Given the description of an element on the screen output the (x, y) to click on. 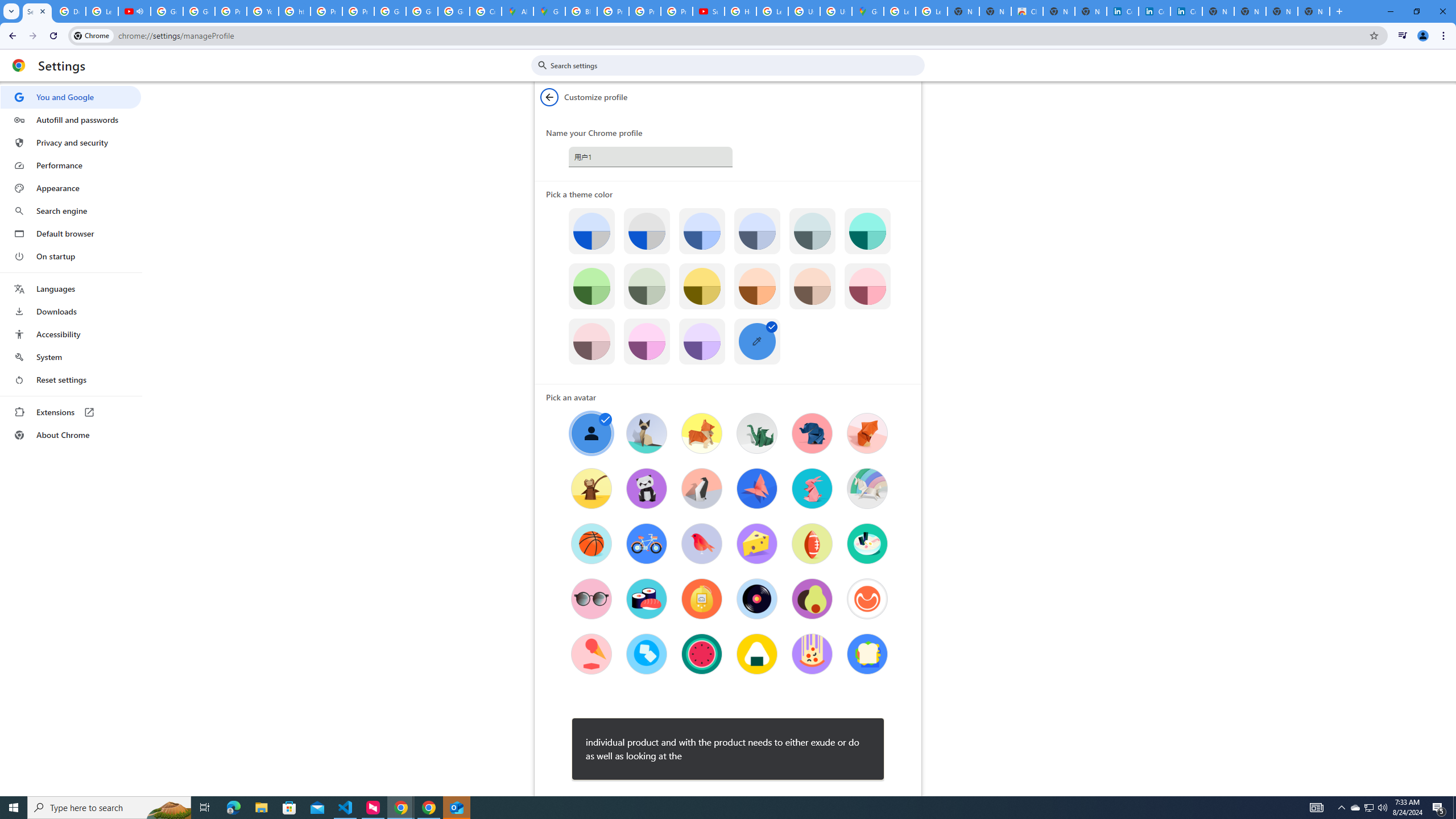
Downloads (70, 311)
New Tab (1313, 11)
Google Maps (549, 11)
Privacy and security (70, 142)
Chrome Web Store (1027, 11)
Delete photos & videos - Computer - Google Photos Help (69, 11)
AutomationID: menu (71, 265)
Default browser (70, 233)
